Given the description of an element on the screen output the (x, y) to click on. 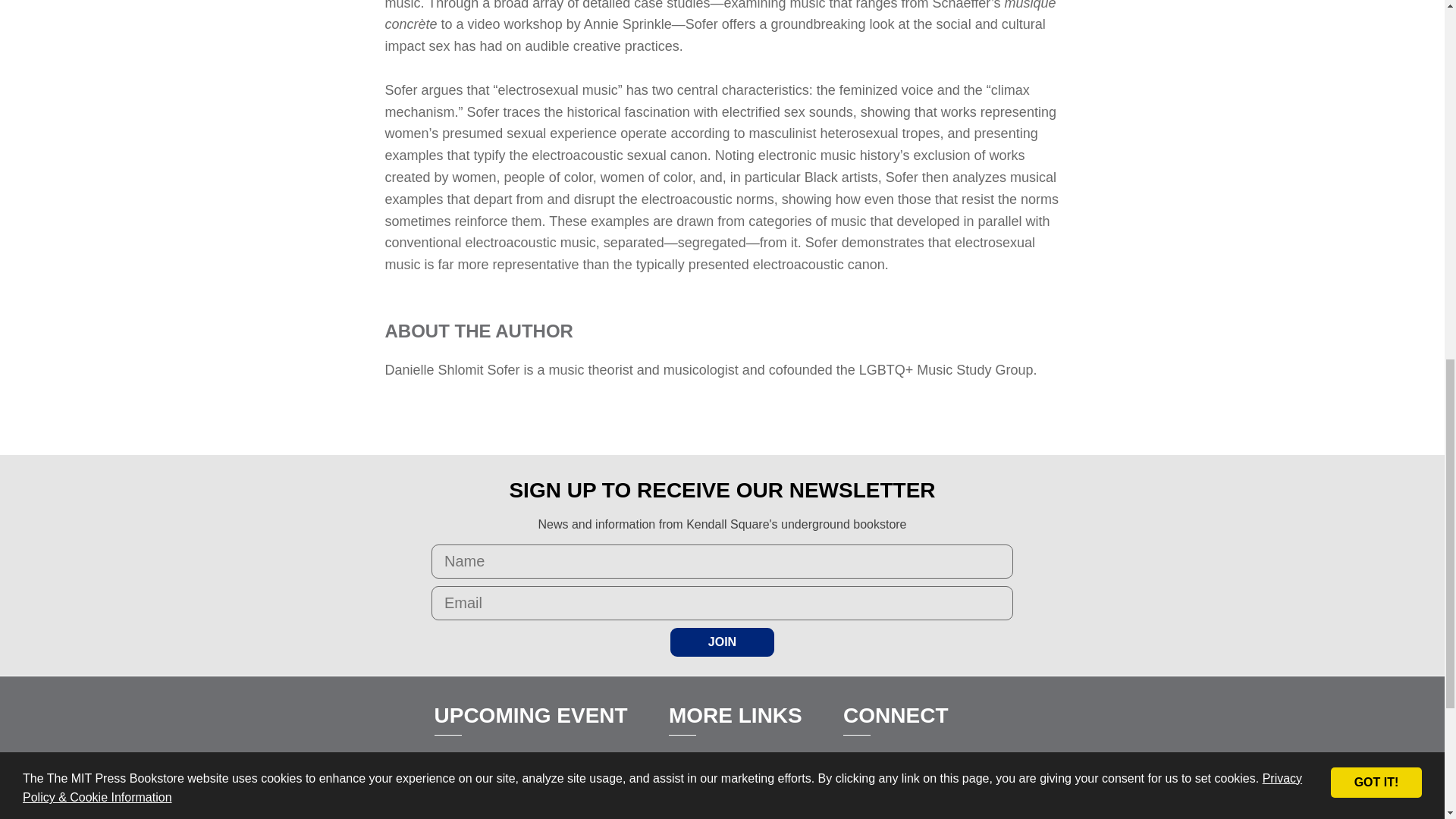
Shipping Policy (709, 813)
GOT IT! (1376, 50)
Join (721, 642)
Contact Us (698, 788)
VIEW EVENT (512, 816)
About Us (693, 762)
Join (721, 642)
